Given the description of an element on the screen output the (x, y) to click on. 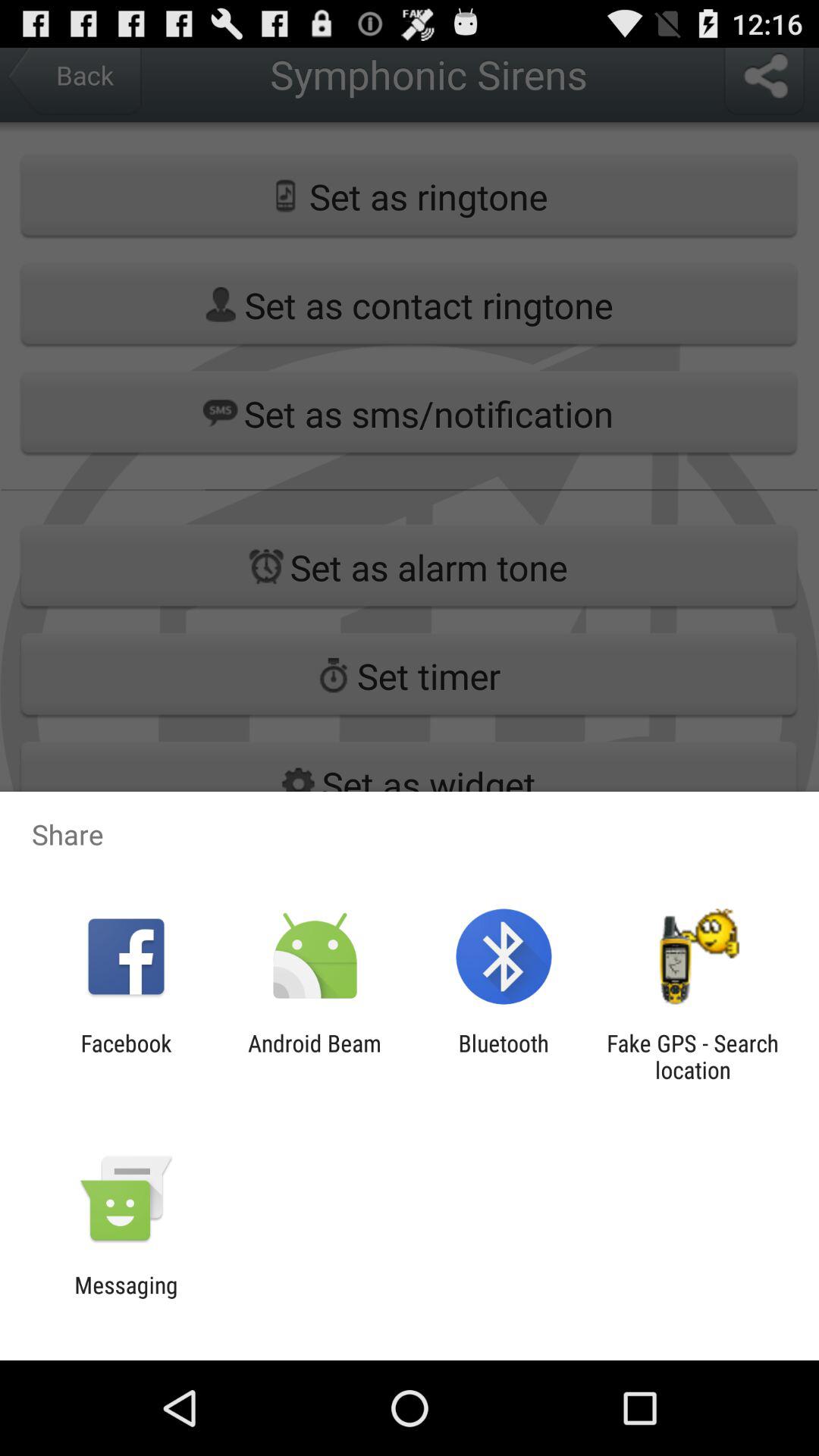
turn off item to the right of android beam icon (503, 1056)
